Given the description of an element on the screen output the (x, y) to click on. 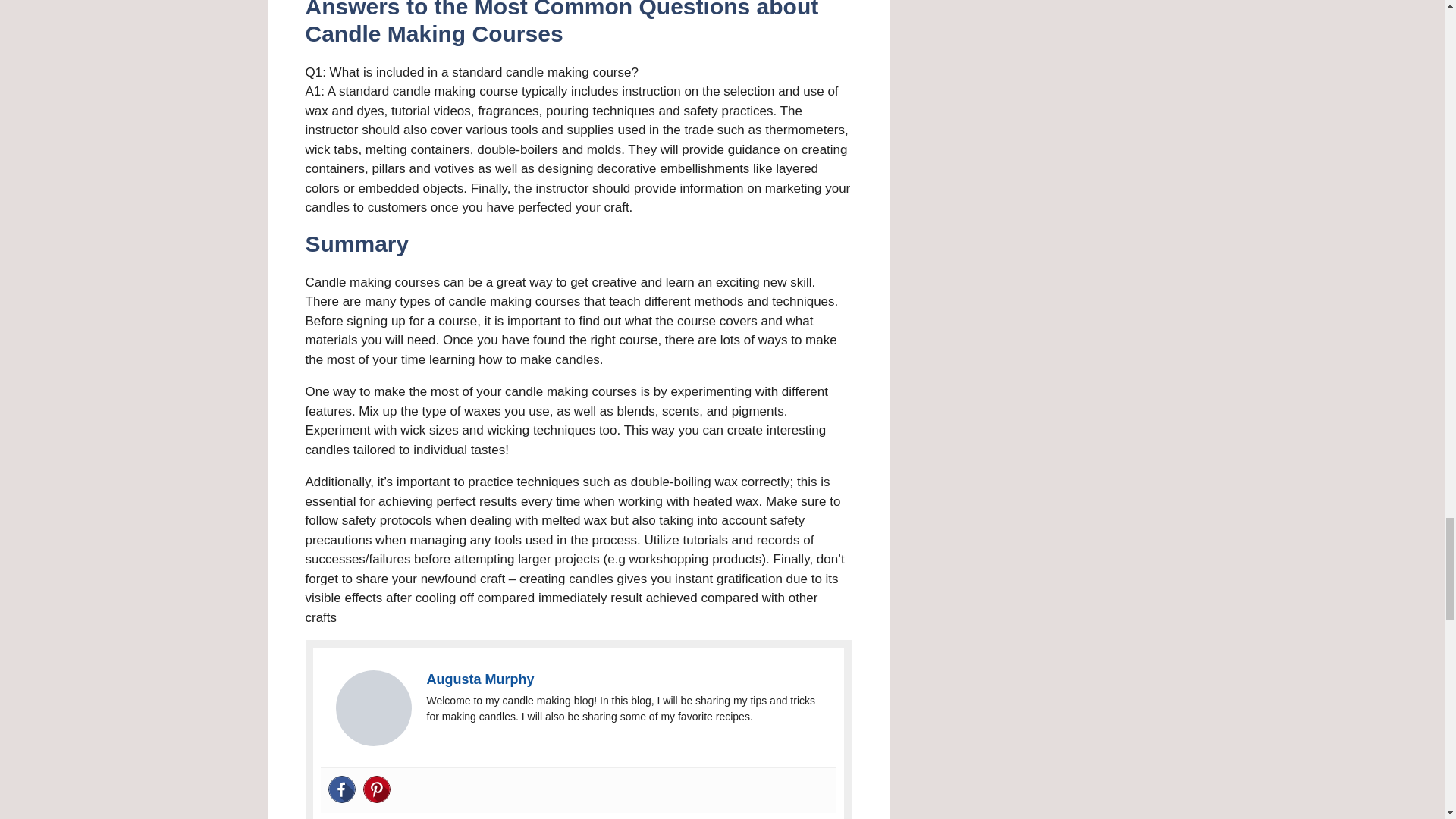
Candle Making Courses 2 (372, 708)
Pinterest (376, 789)
Facebook (341, 789)
